Given the description of an element on the screen output the (x, y) to click on. 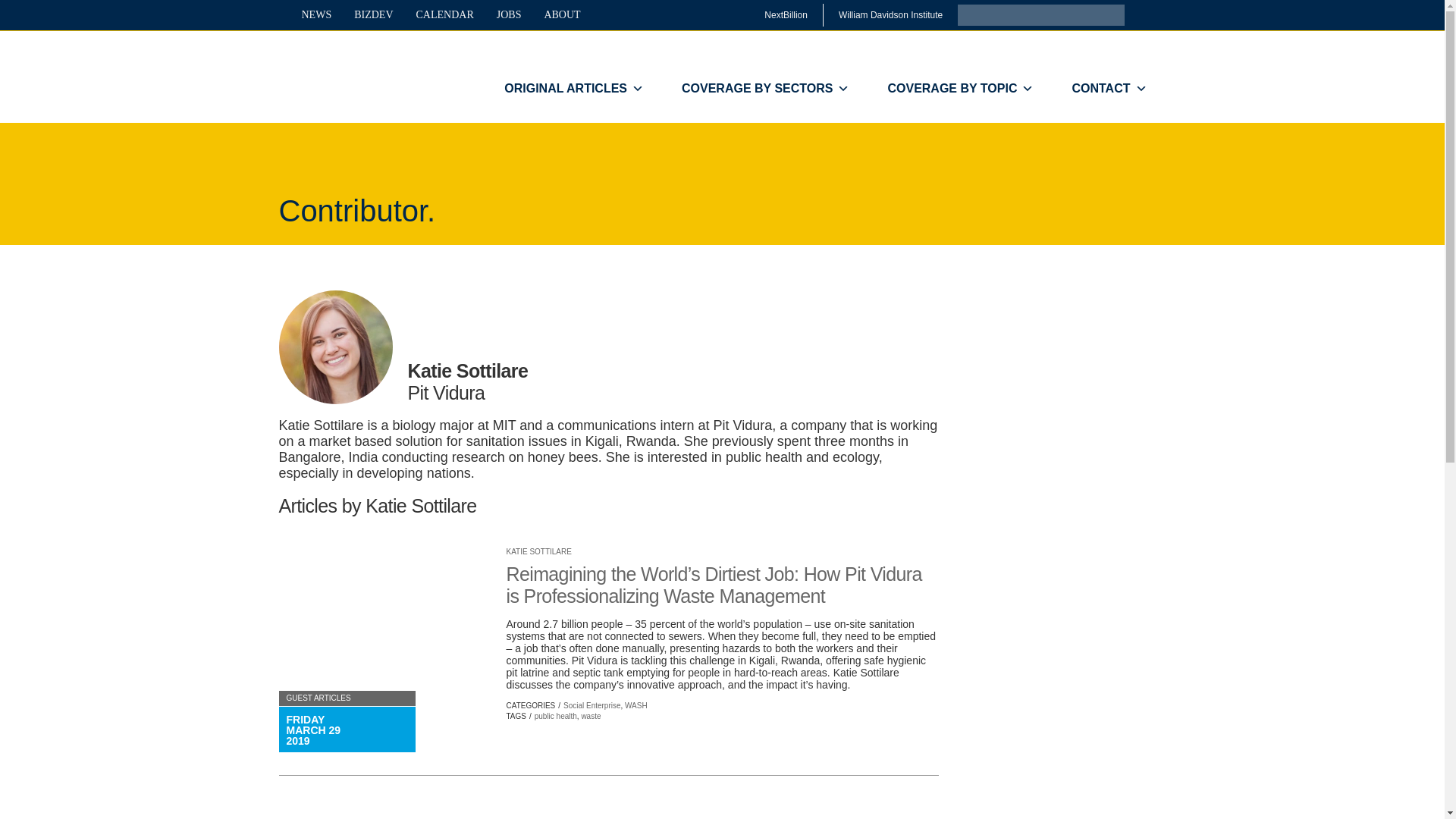
COVERAGE BY TOPIC (959, 88)
COVERAGE BY SECTORS (764, 88)
ORIGINAL ARTICLES (573, 88)
